Given the description of an element on the screen output the (x, y) to click on. 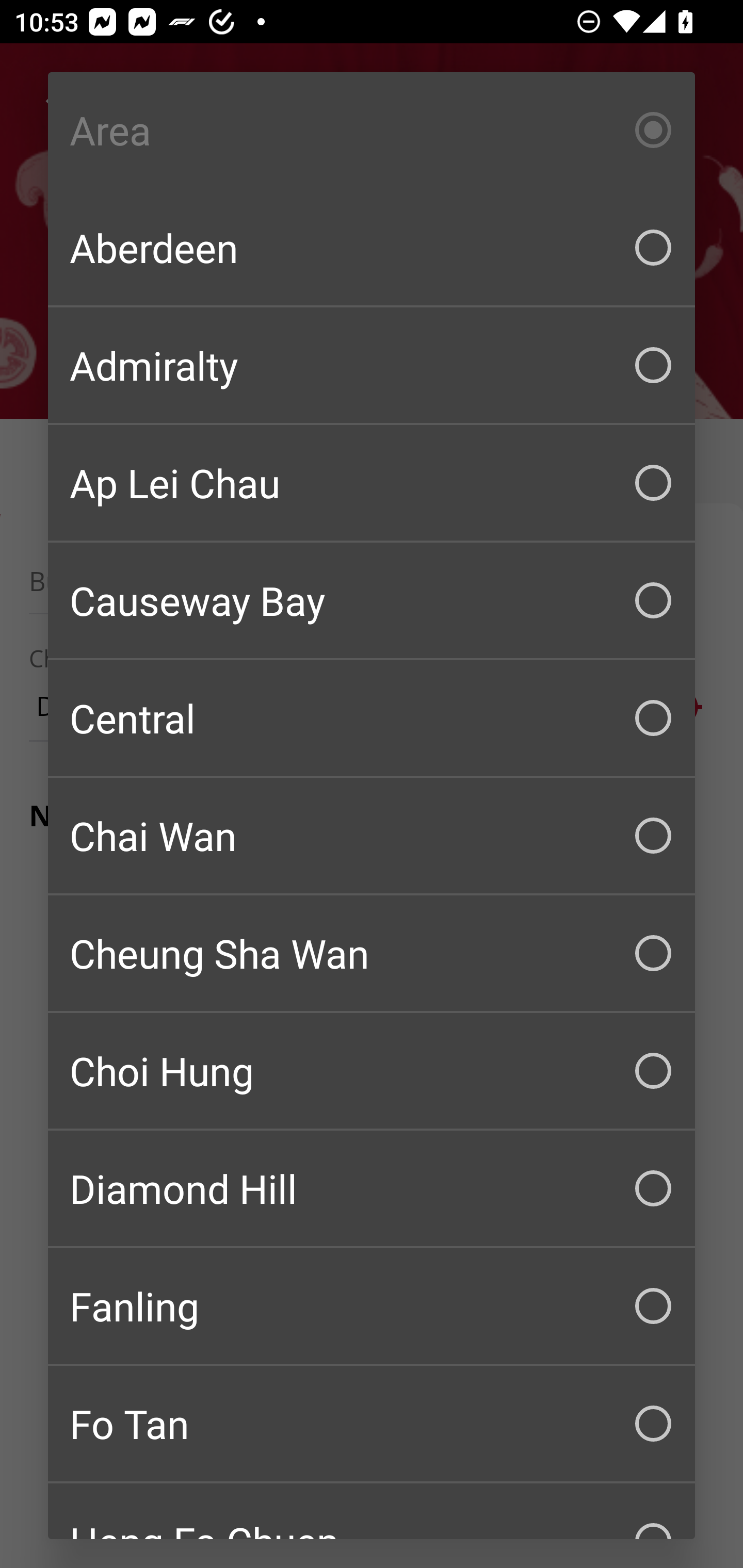
Aberdeen (371, 247)
Admiralty (371, 365)
Ap Lei Chau (371, 482)
Causeway Bay (371, 600)
Central (371, 718)
Chai Wan (371, 835)
Cheung Sha Wan (371, 953)
Choi Hung (371, 1070)
Diamond Hill (371, 1188)
Fanling (371, 1306)
Fo Tan (371, 1423)
